Given the description of an element on the screen output the (x, y) to click on. 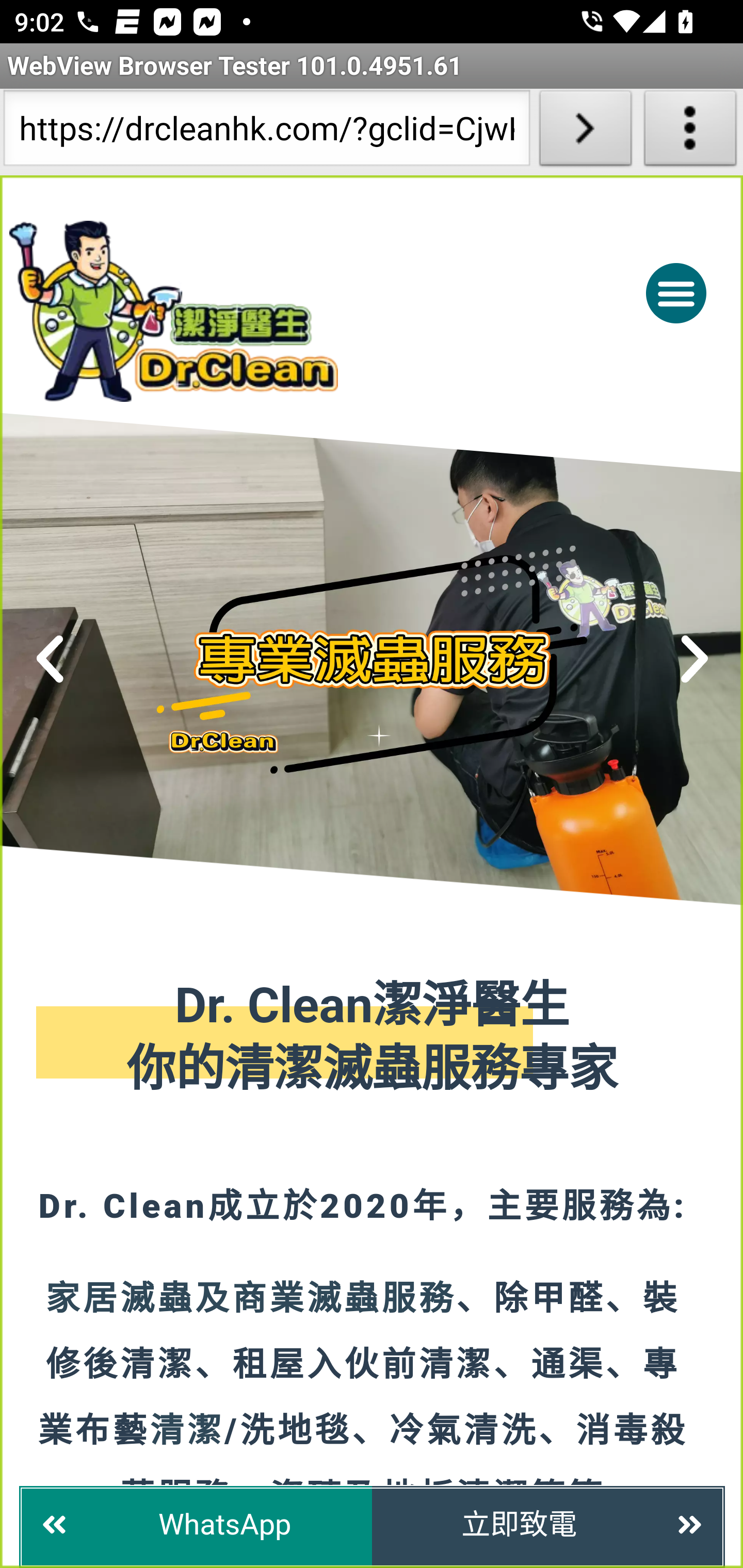
Load URL (585, 132)
About WebView (690, 132)
drcleanhk (254, 309)
Menu Toggle (675, 292)
Previous slide Next slide (371, 658)
Previous slide (50, 659)
Next slide (694, 659)
Dr. Clean潔淨醫生 你的清潔滅蟲服務專家 (372, 1038)
